Given the description of an element on the screen output the (x, y) to click on. 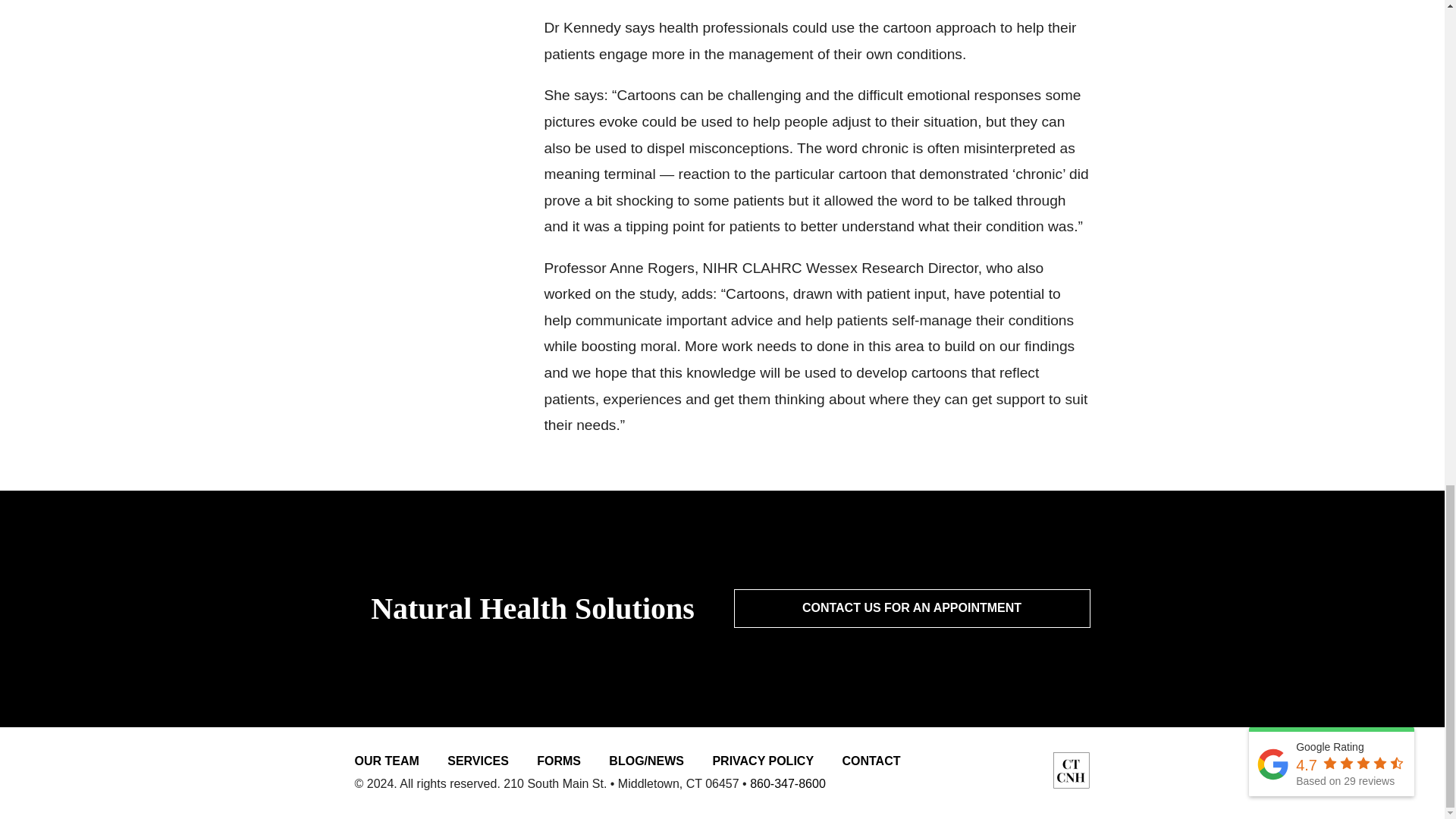
CONTACT US FOR AN APPOINTMENT (911, 608)
CONTACT (870, 760)
860-347-8600 (787, 782)
SERVICES (477, 760)
FORMS (558, 760)
PRIVACY POLICY (762, 760)
OUR TEAM (387, 760)
